Given the description of an element on the screen output the (x, y) to click on. 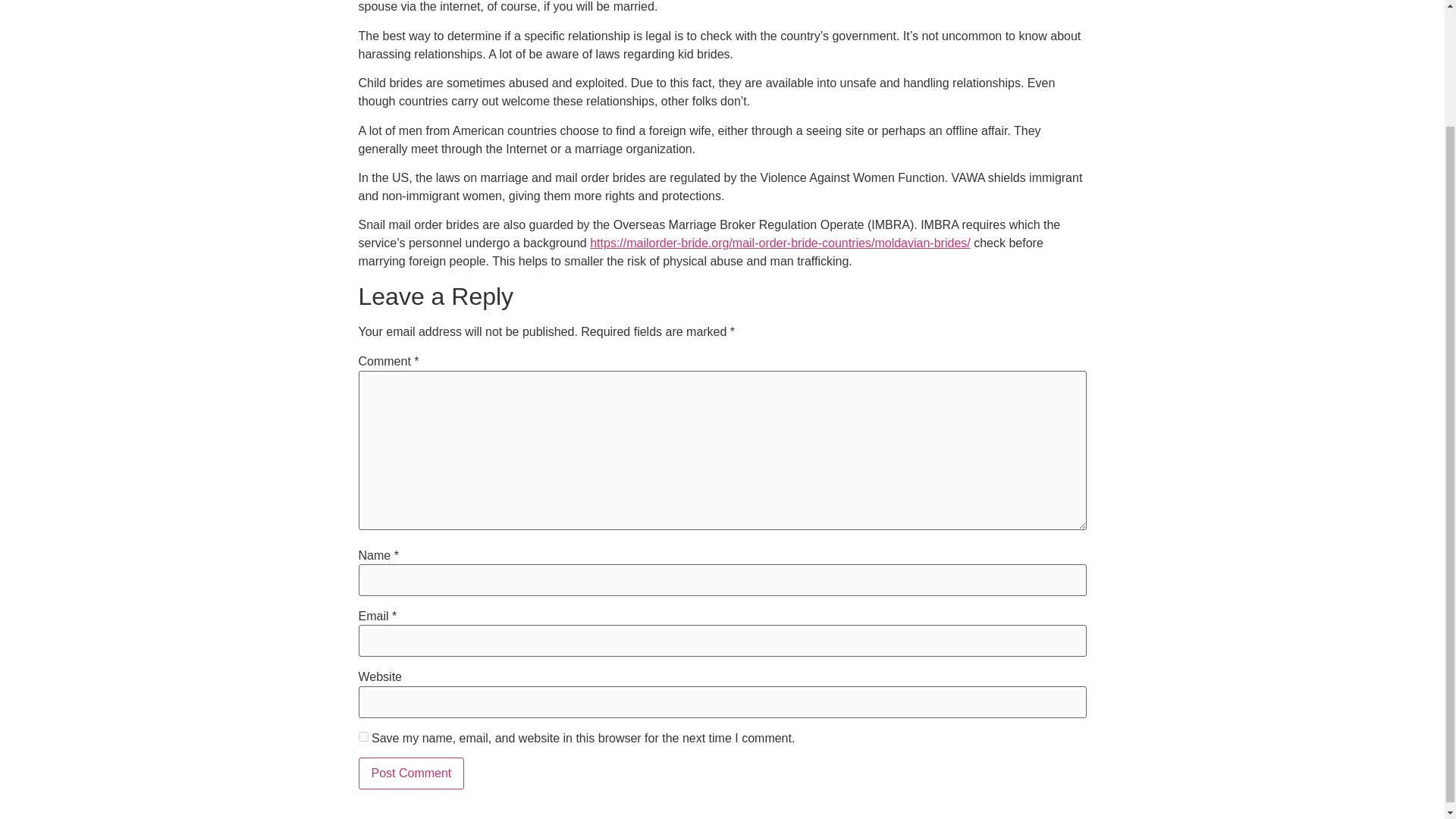
yes (363, 737)
Post Comment (411, 773)
Post Comment (411, 773)
